Given the description of an element on the screen output the (x, y) to click on. 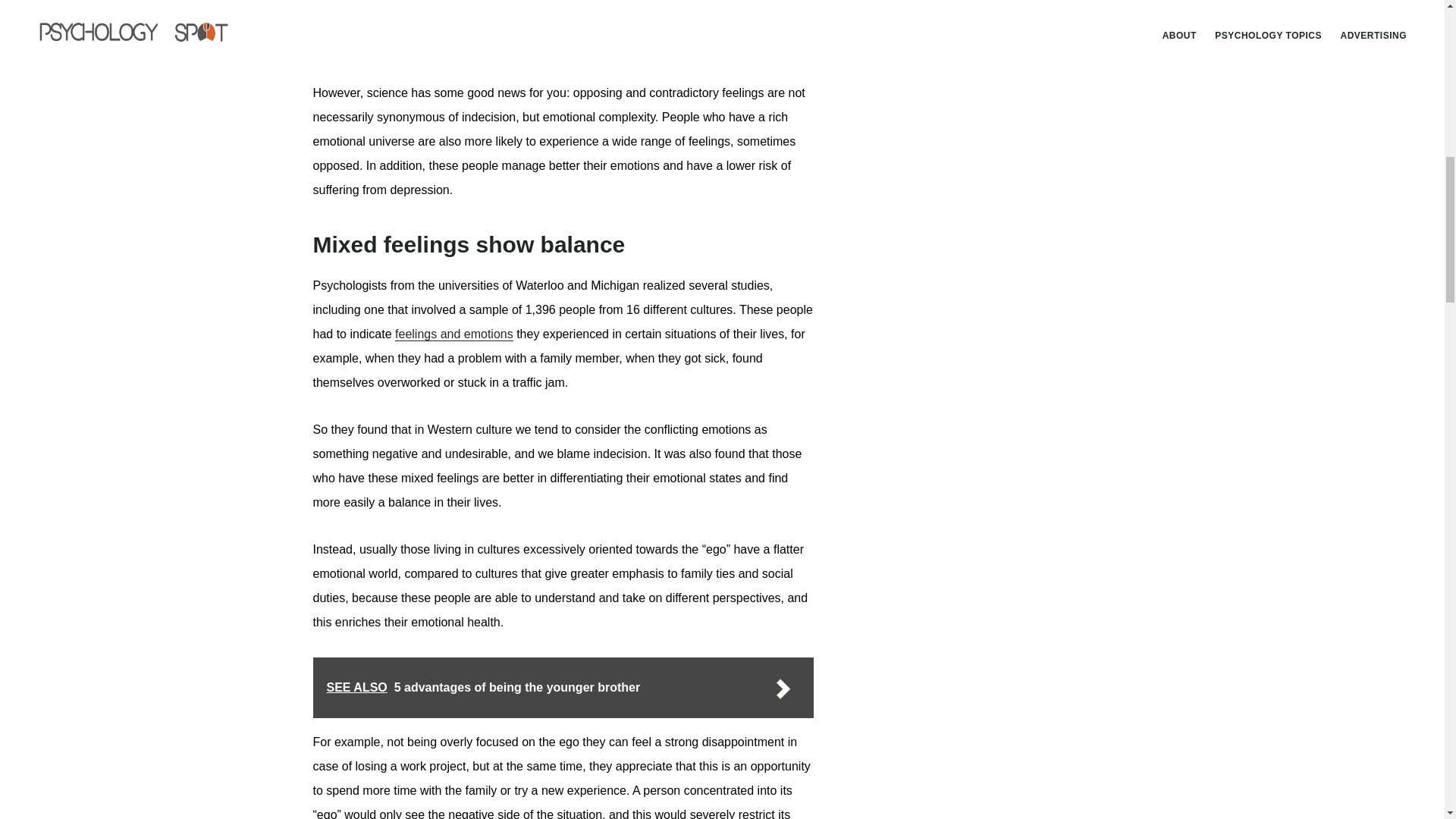
feelings and emotions (453, 334)
Advertisement (1017, 219)
SEE ALSO  5 advantages of being the younger brother (562, 687)
